Given the description of an element on the screen output the (x, y) to click on. 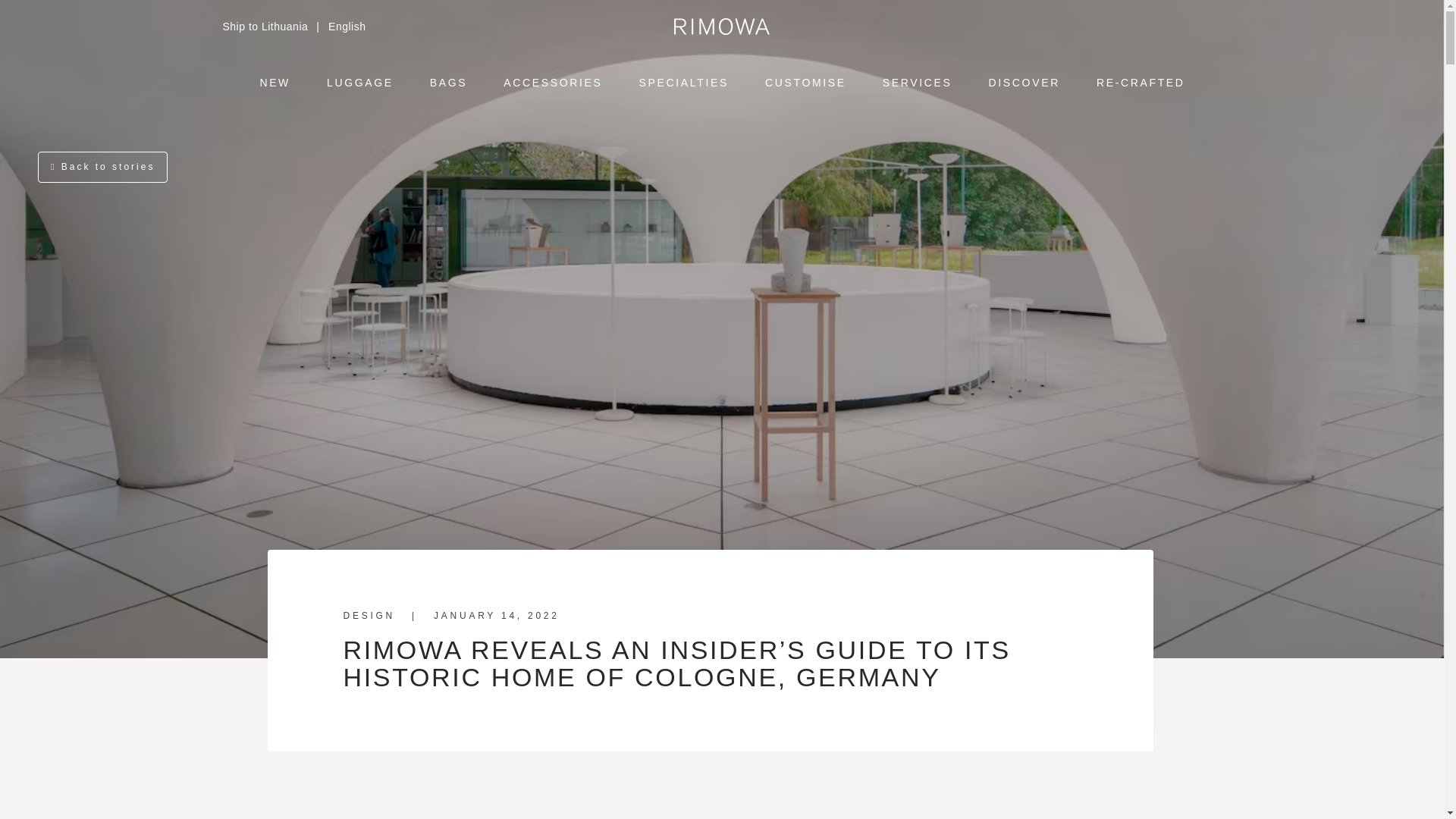
English (346, 27)
RIMOWA official website Home (721, 26)
NEW (274, 78)
LUGGAGE (360, 78)
